Given the description of an element on the screen output the (x, y) to click on. 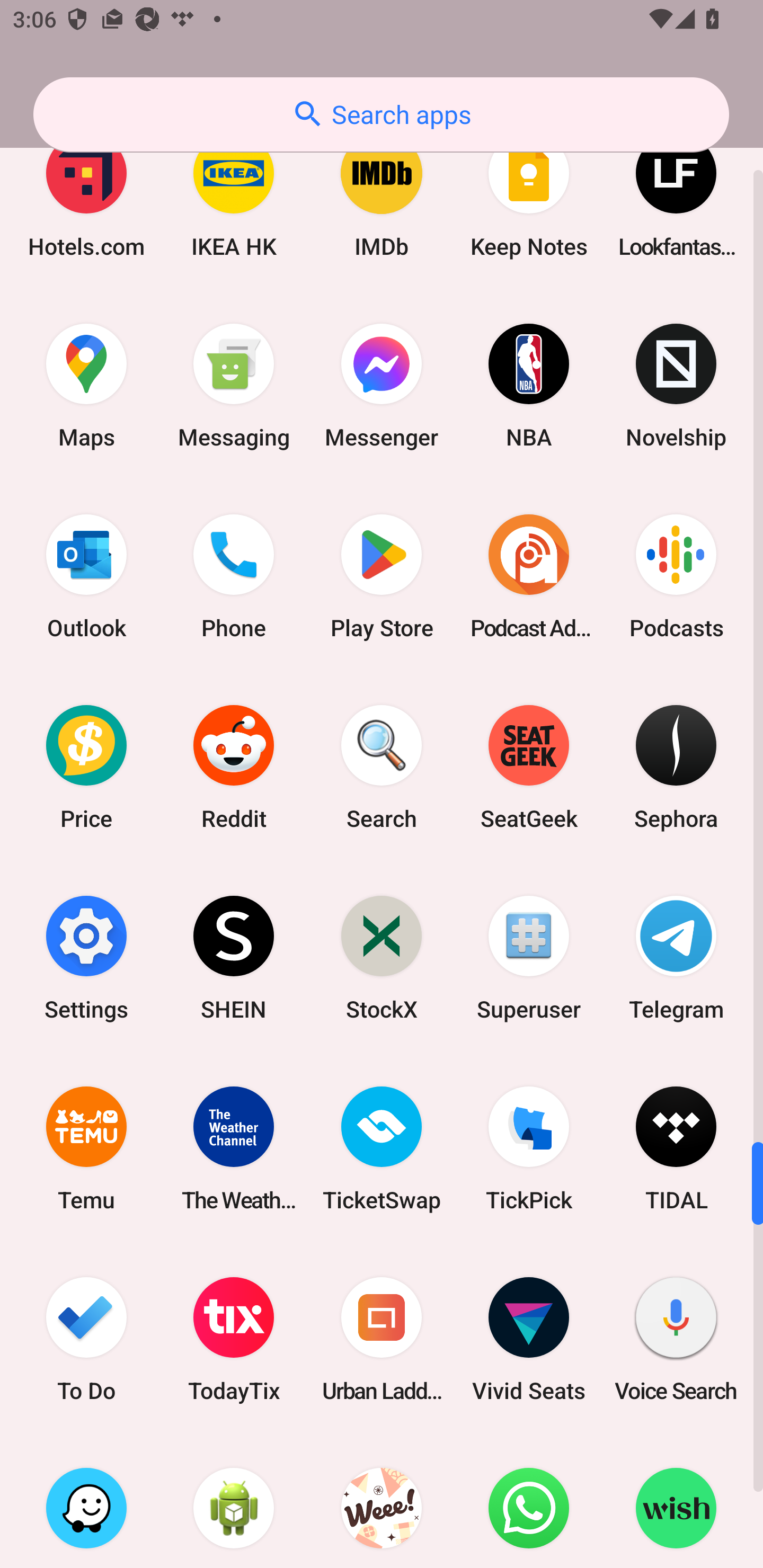
To Do (86, 1338)
